Given the description of an element on the screen output the (x, y) to click on. 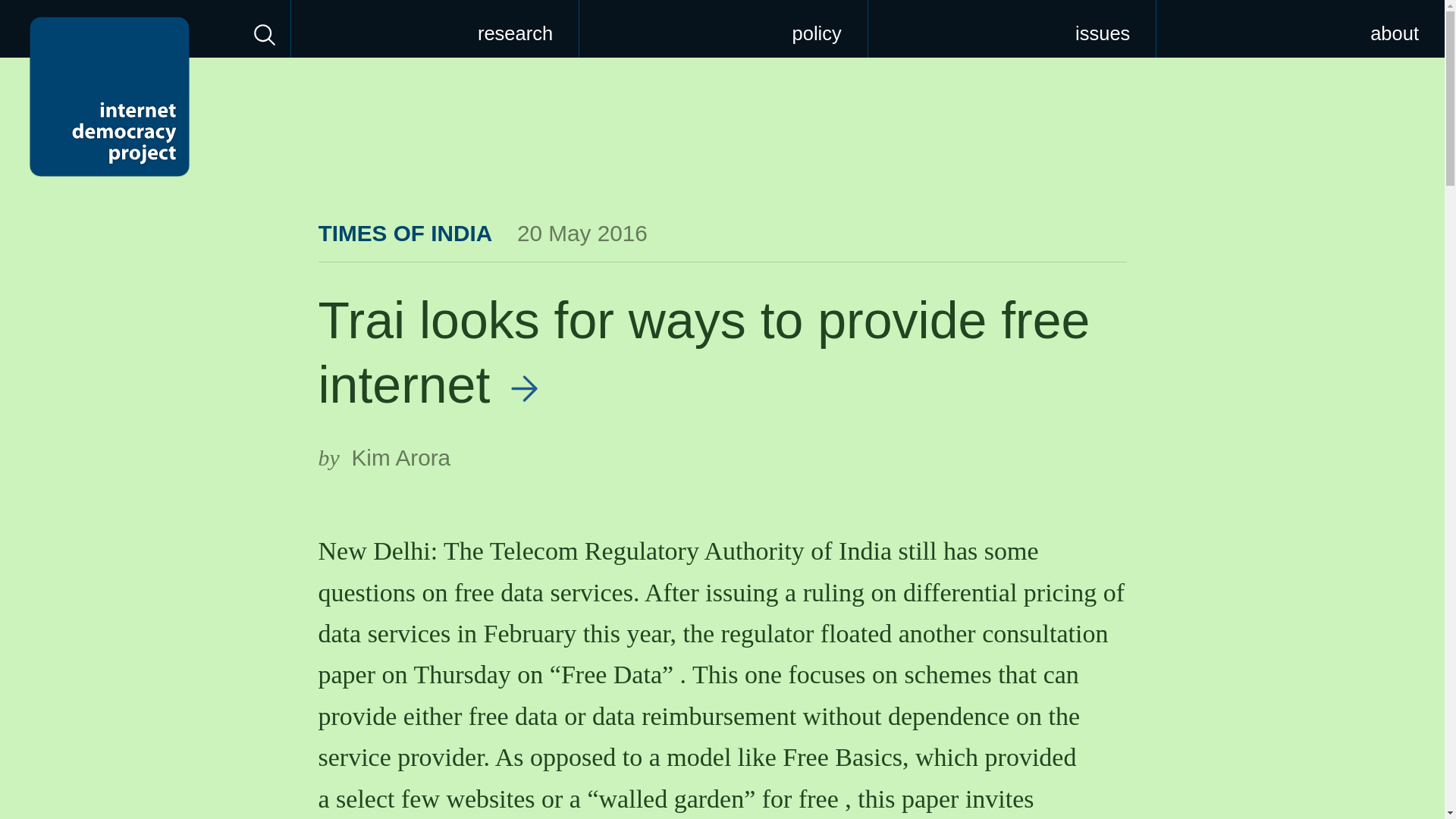
TIMES OF INDIA 20 May 2016 (482, 232)
research (435, 28)
Trai looks for ways to provide free internet  (704, 352)
issues (1011, 28)
policy (723, 28)
Internet Democracy Project (109, 96)
